Given the description of an element on the screen output the (x, y) to click on. 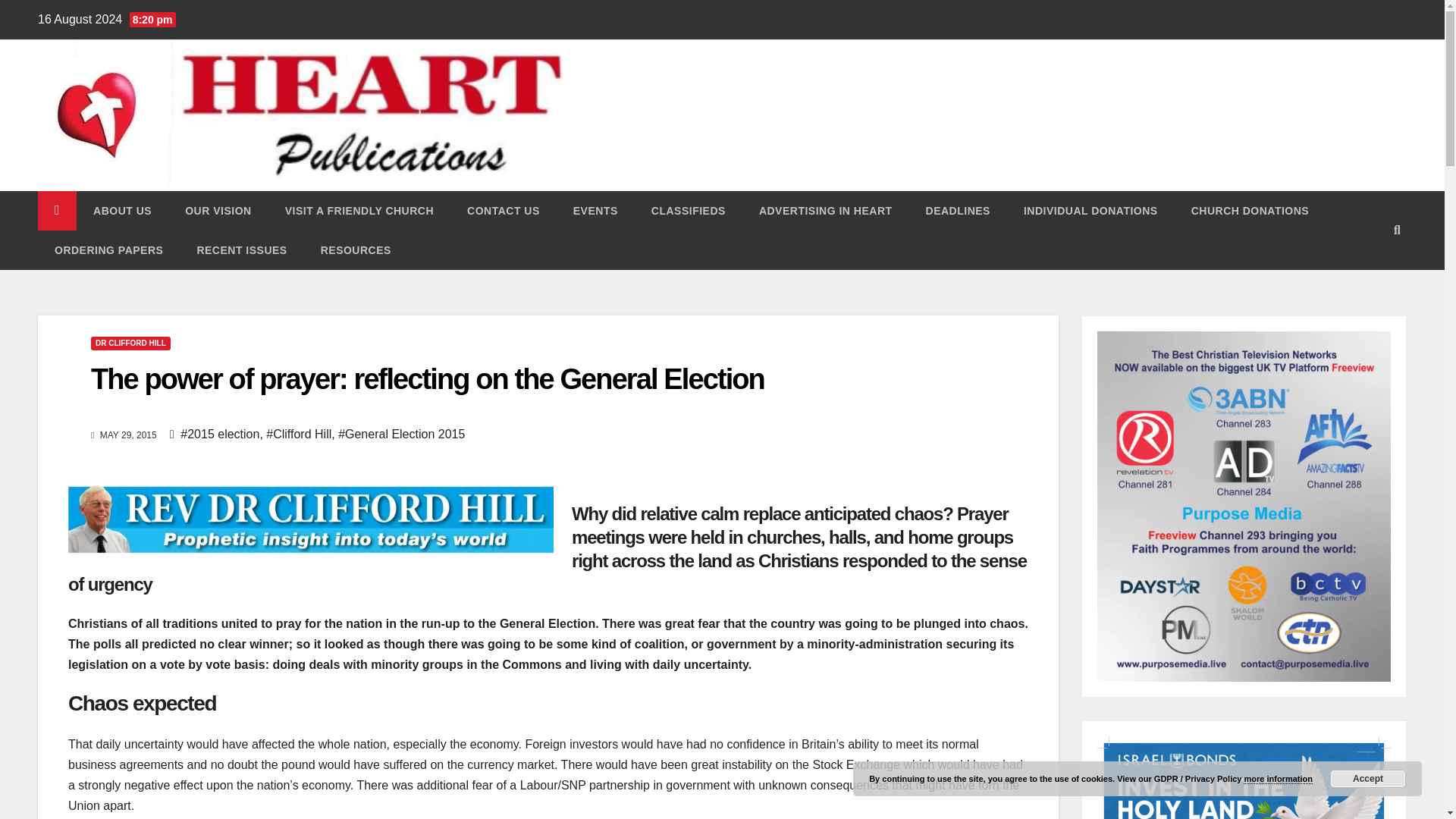
Our vision (217, 210)
Resources (355, 250)
DR CLIFFORD HILL (130, 343)
INDIVIDUAL DONATIONS (1090, 210)
Church donations (1250, 210)
CLASSIFIEDS (688, 210)
ABOUT US (122, 210)
EVENTS (595, 210)
Visit a Friendly Church (358, 210)
Deadlines (957, 210)
